Given the description of an element on the screen output the (x, y) to click on. 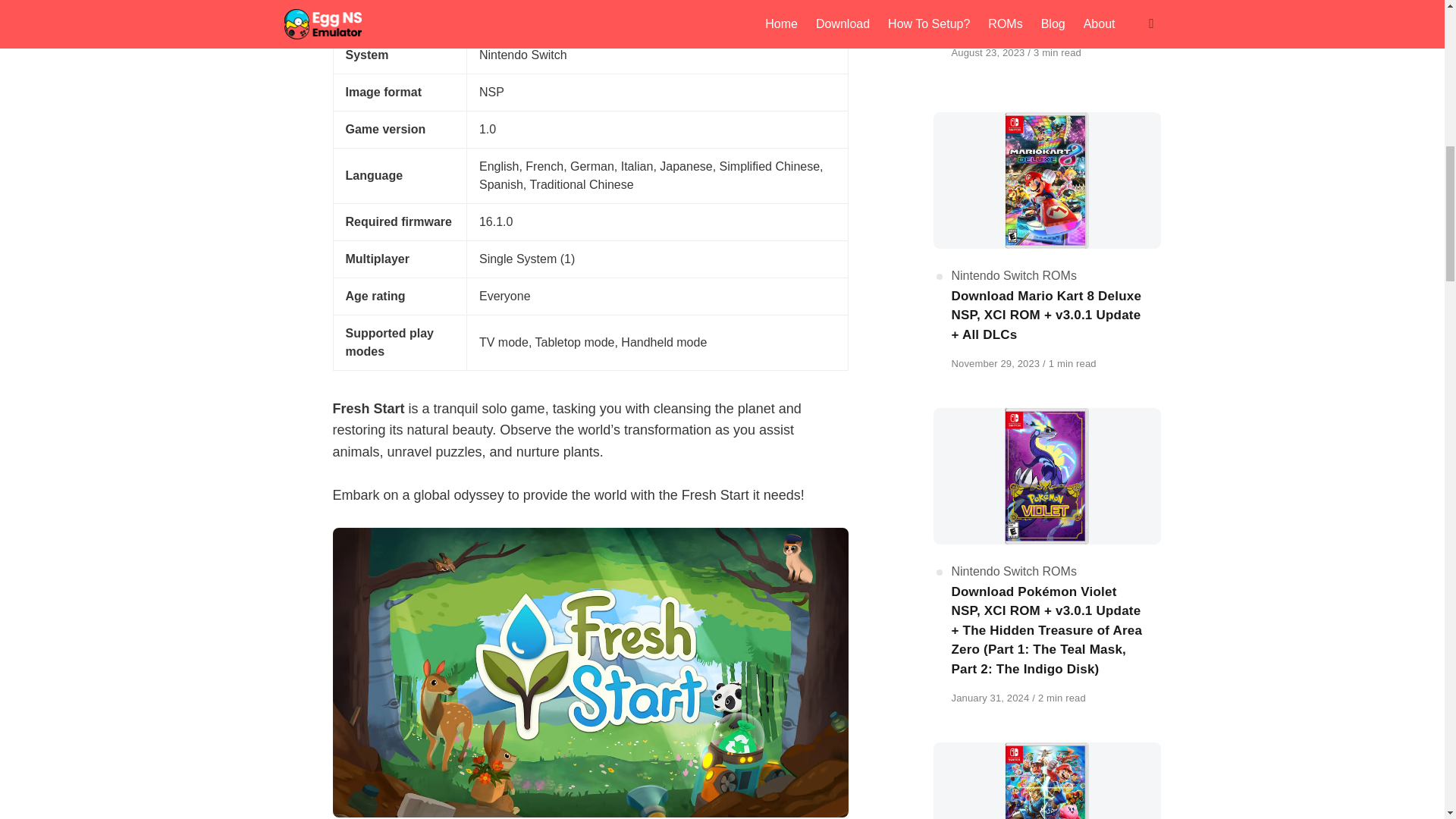
November 29, 2023 (996, 363)
Nintendo Switch ROMs (1012, 275)
August 23, 2023 (988, 52)
Nintendo Switch ROMs (1012, 571)
January 31, 2024 (991, 697)
